Given the description of an element on the screen output the (x, y) to click on. 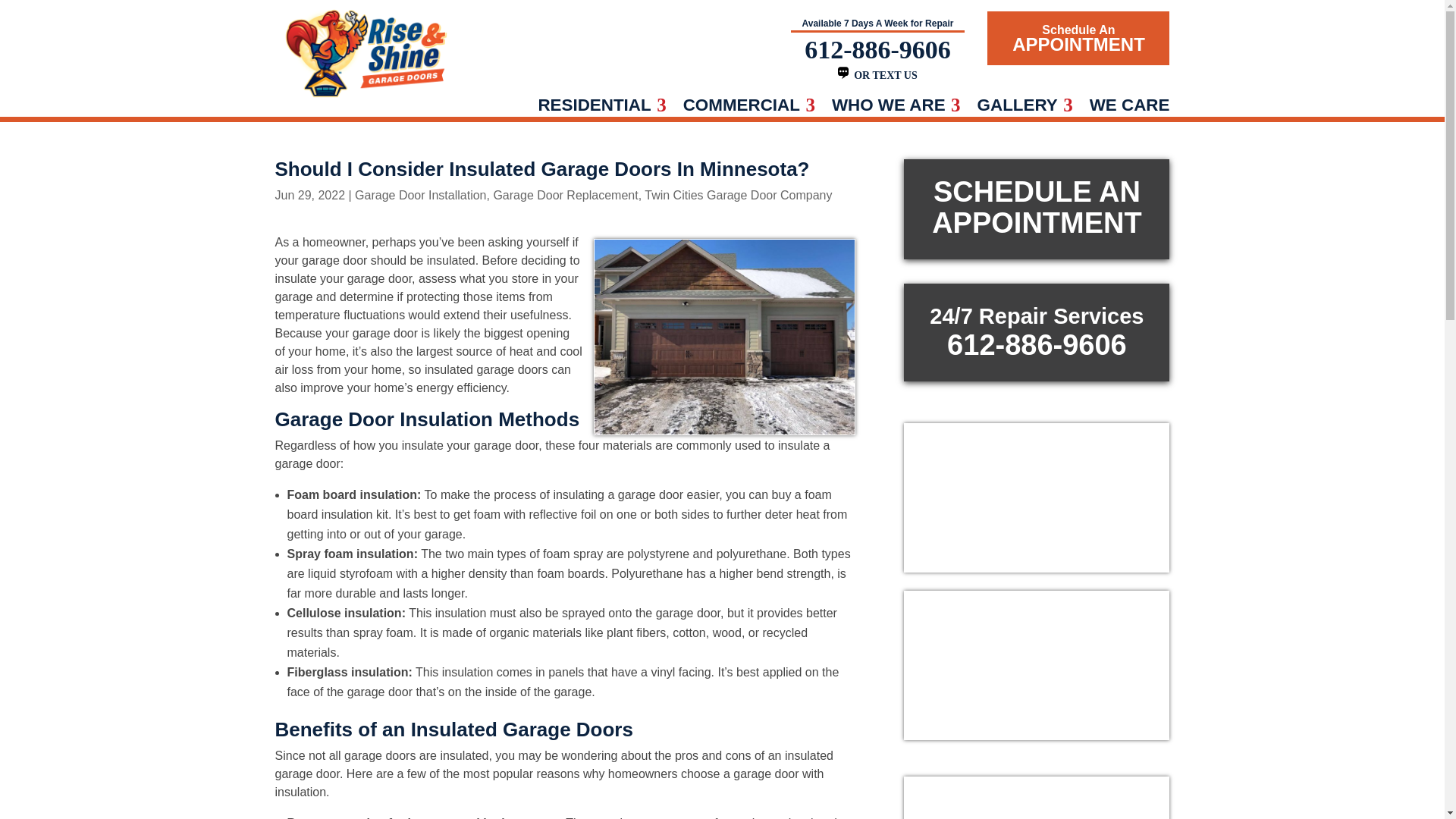
OR TEXT US (877, 74)
612-886-9606 (877, 49)
WE CARE (1129, 108)
RESIDENTIAL (601, 108)
GALLERY (1024, 108)
COMMERCIAL (748, 108)
WHO WE ARE (895, 108)
